Given the description of an element on the screen output the (x, y) to click on. 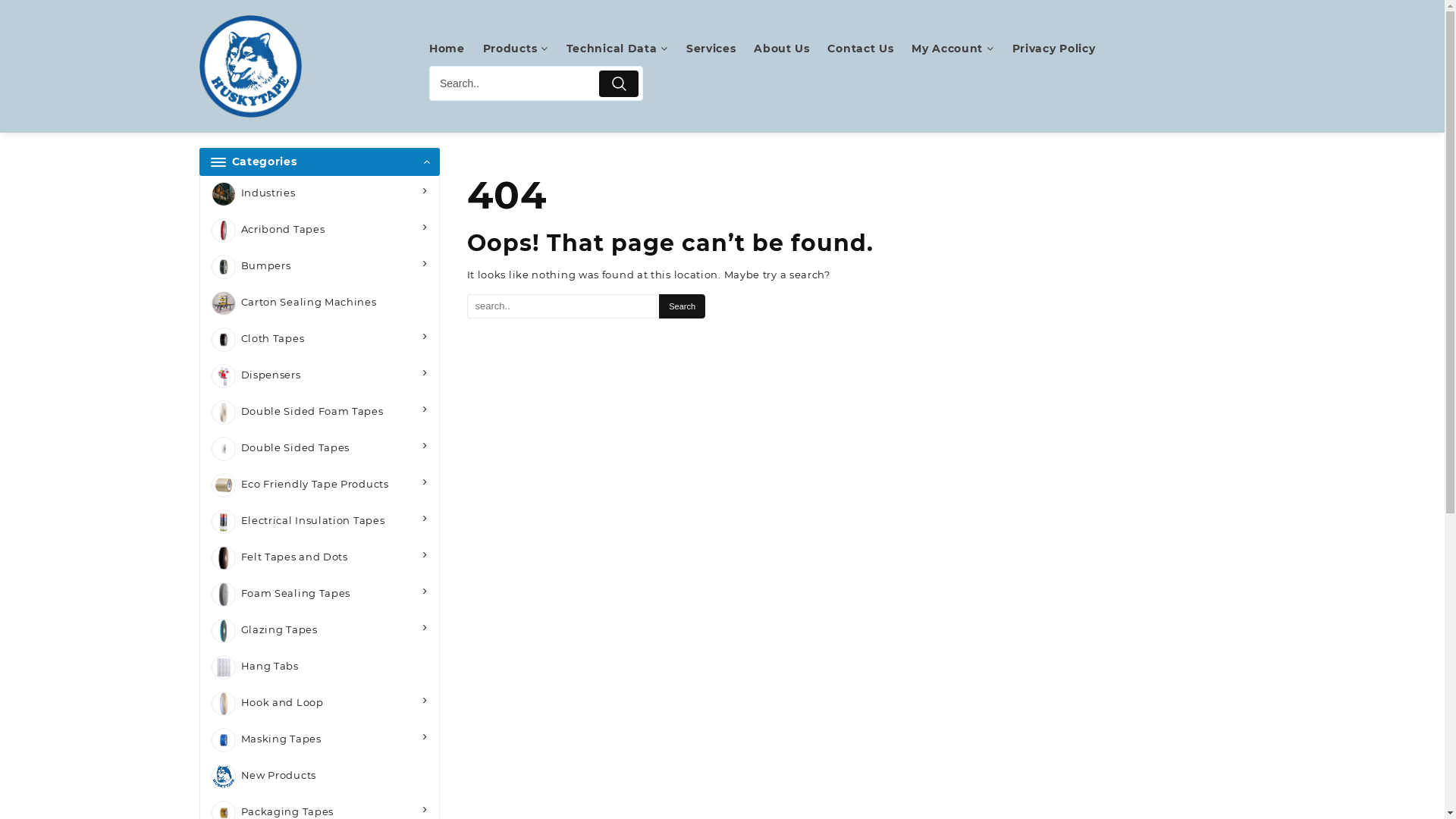
Privacy Policy Element type: text (1061, 48)
Products Element type: text (523, 48)
Home Element type: text (454, 48)
My Account Element type: text (960, 48)
Double Sided Foam Tapes Element type: text (319, 412)
Contact Us Element type: text (867, 48)
Technical Data Element type: text (625, 48)
Search Element type: hover (512, 83)
Masking Tapes Element type: text (319, 739)
Services Element type: text (718, 48)
Hook and Loop Element type: text (319, 703)
Cloth Tapes Element type: text (319, 339)
Glazing Tapes Element type: text (319, 630)
Electrical Insulation Tapes Element type: text (319, 521)
Dispensers Element type: text (319, 375)
New Products Element type: text (319, 776)
Search Element type: text (681, 306)
Foam Sealing Tapes Element type: text (319, 594)
Acribond Tapes Element type: text (319, 230)
Submit Element type: text (619, 82)
Bumpers Element type: text (319, 266)
Felt Tapes and Dots Element type: text (319, 557)
Industries Element type: text (319, 193)
Carton Sealing Machines Element type: text (319, 303)
About Us Element type: text (789, 48)
Hang Tabs Element type: text (319, 667)
Double Sided Tapes Element type: text (319, 448)
Eco Friendly Tape Products Element type: text (319, 485)
